Given the description of an element on the screen output the (x, y) to click on. 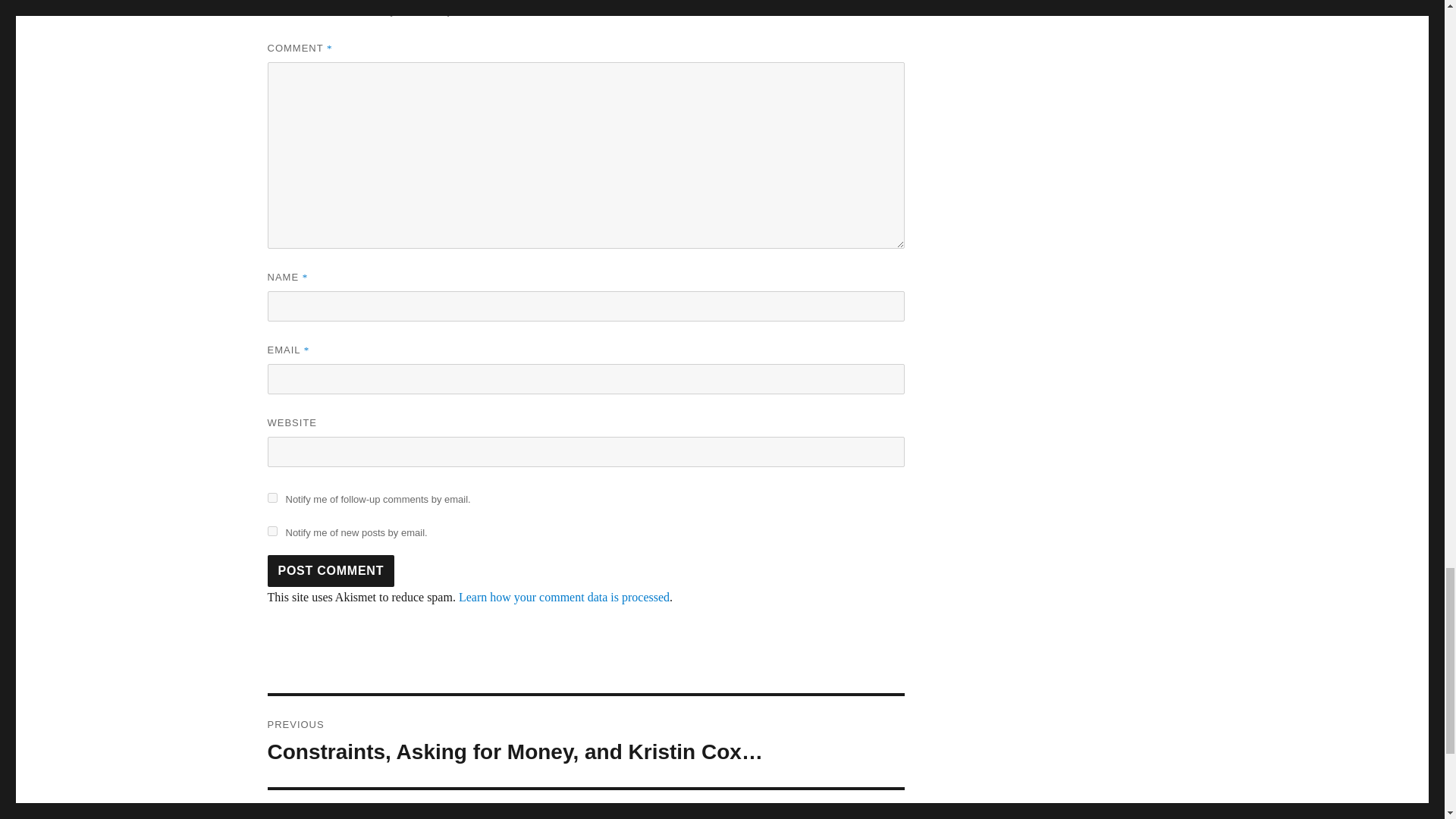
Post Comment (330, 571)
Post Comment (330, 571)
subscribe (271, 531)
subscribe (271, 497)
Learn how your comment data is processed (563, 596)
